Given the description of an element on the screen output the (x, y) to click on. 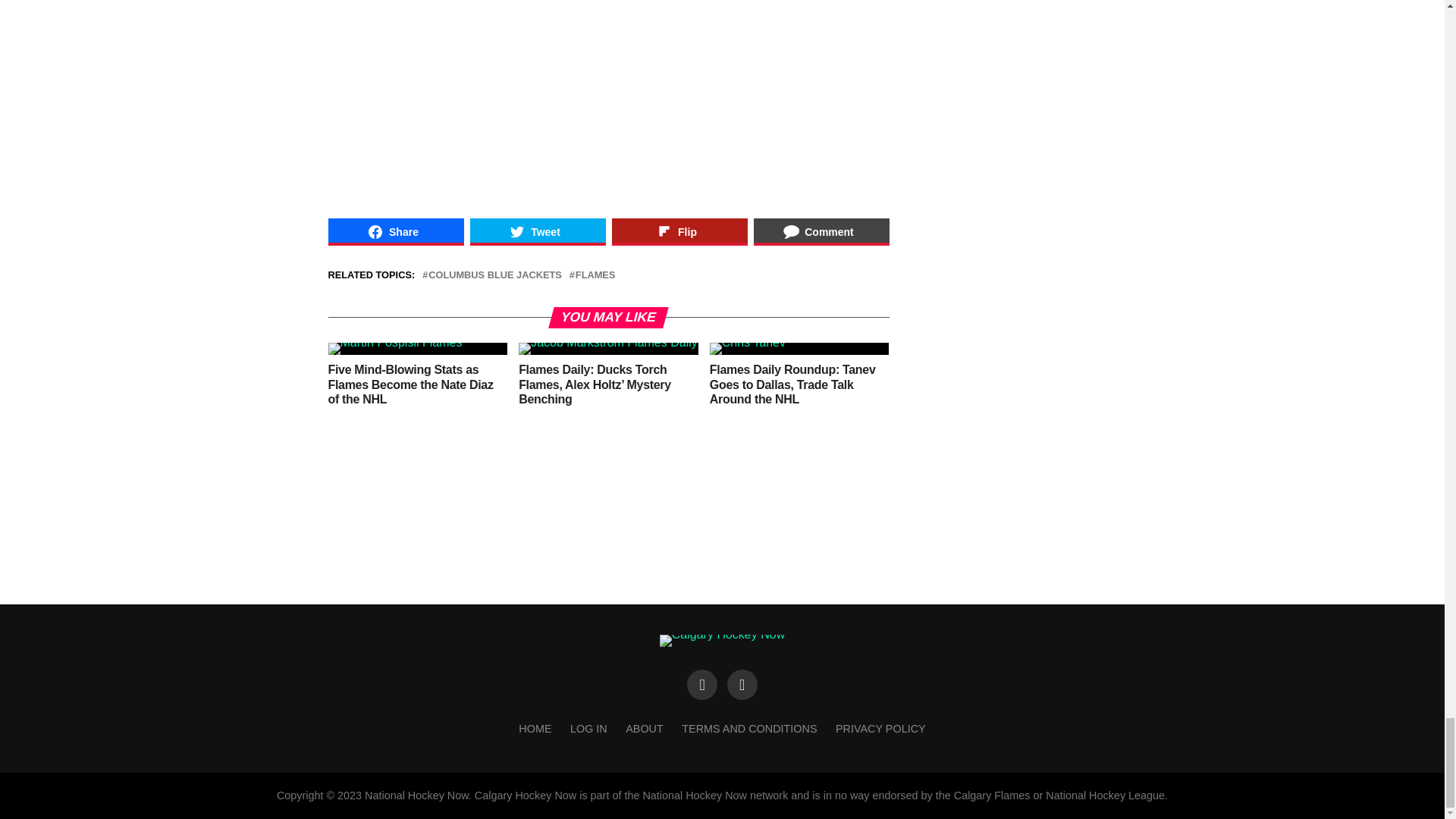
Share on Tweet (537, 231)
Share on Comment (821, 231)
Share on Flip (678, 231)
Share on Share (395, 231)
